Given the description of an element on the screen output the (x, y) to click on. 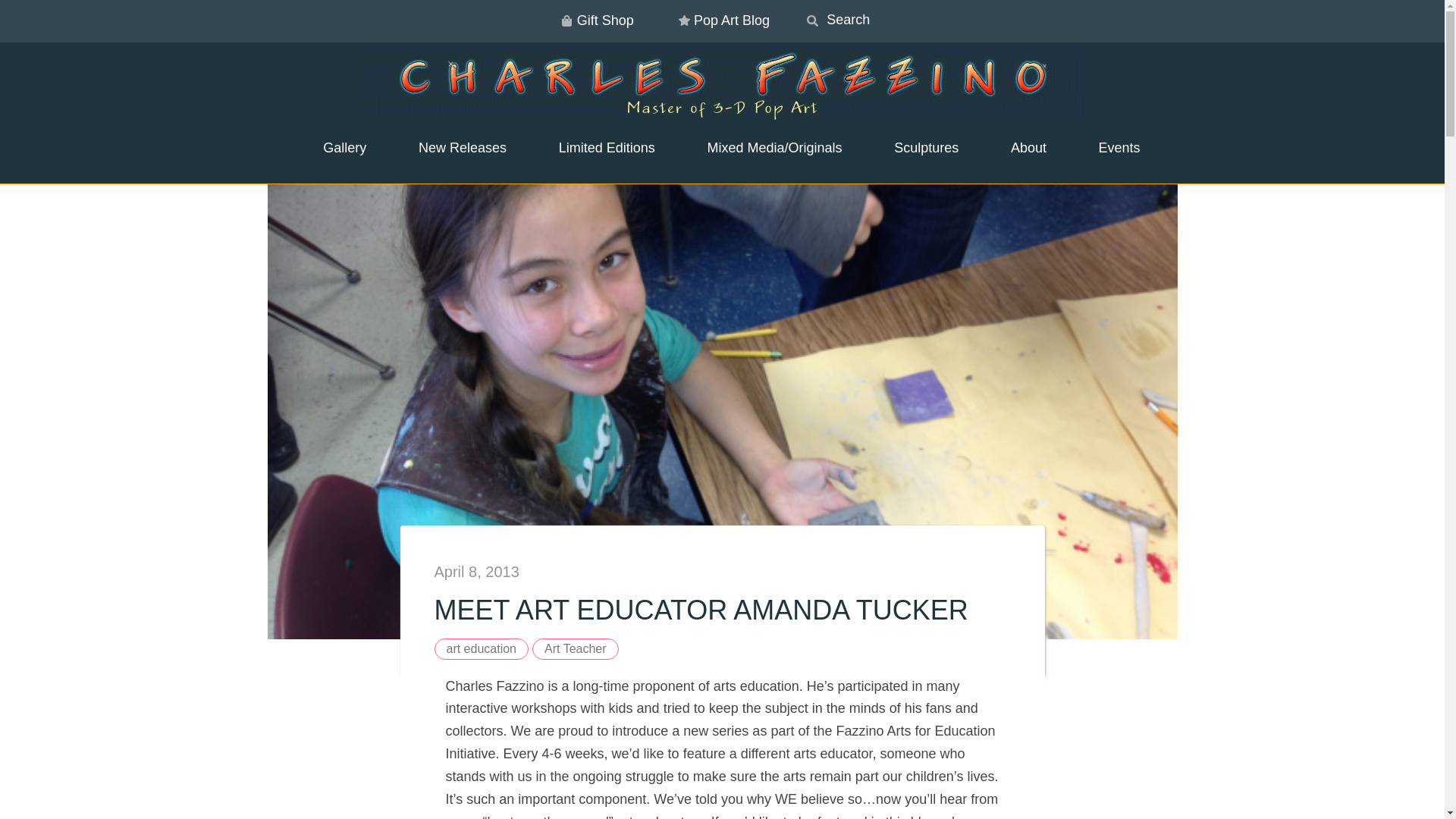
Gallery (335, 148)
Gift Shop (595, 20)
New Releases (452, 148)
Limited Editions (597, 148)
Sculptures (916, 148)
art education (480, 649)
About (1018, 148)
Art Teacher (575, 649)
Events (1110, 148)
Pop Art Blog (722, 20)
